Given the description of an element on the screen output the (x, y) to click on. 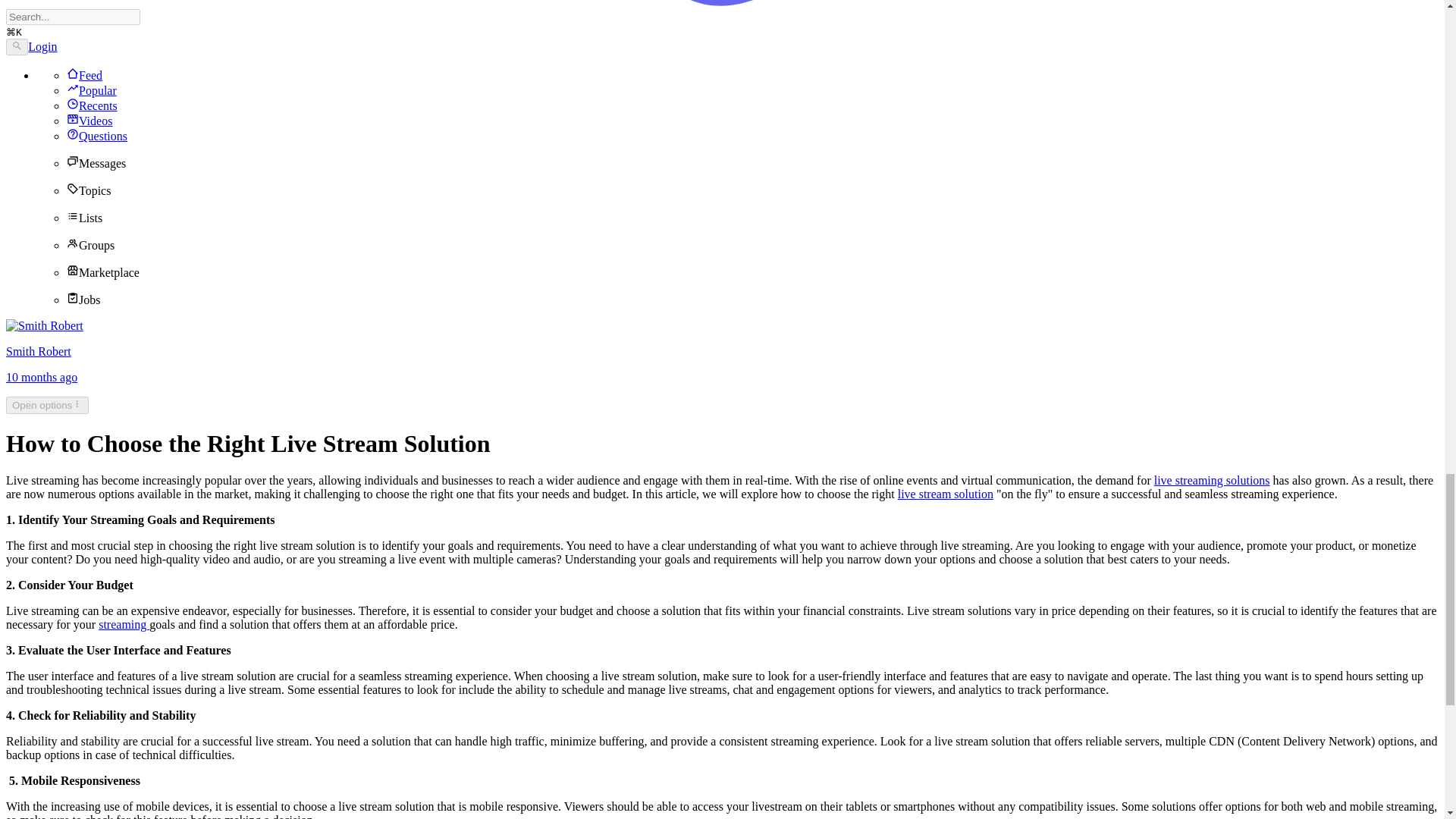
10 months ago (41, 377)
Videos (89, 120)
Feed (83, 74)
live streaming solutions (1211, 480)
Login (41, 46)
Popular (91, 90)
Smith Robert (38, 350)
Questions (97, 135)
Recents (91, 105)
live stream solution (945, 493)
